Given the description of an element on the screen output the (x, y) to click on. 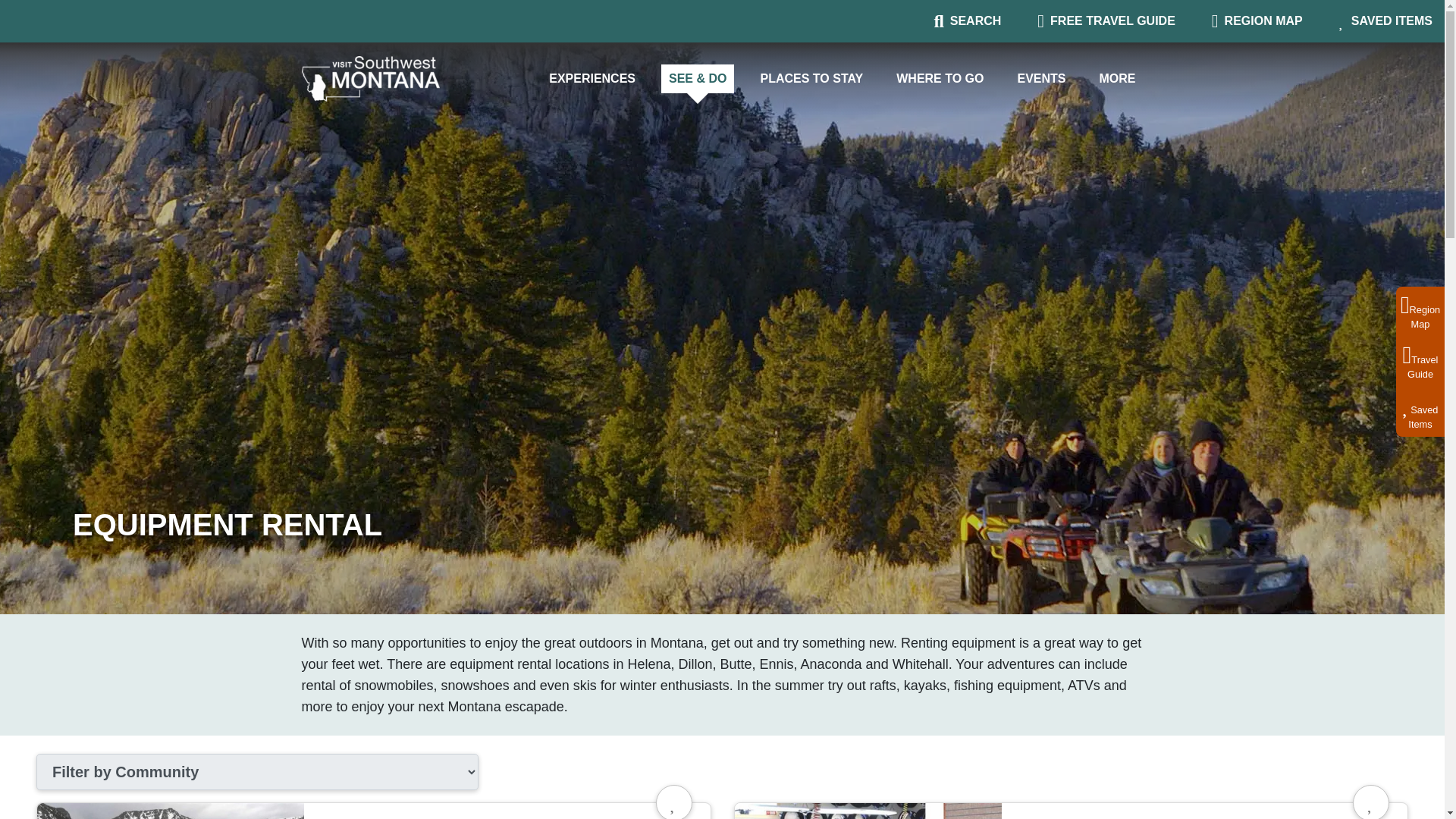
SEARCH (1105, 20)
PLACES TO STAY (967, 20)
SAVED ITEMS (811, 78)
EXPERIENCES (1385, 20)
